Given the description of an element on the screen output the (x, y) to click on. 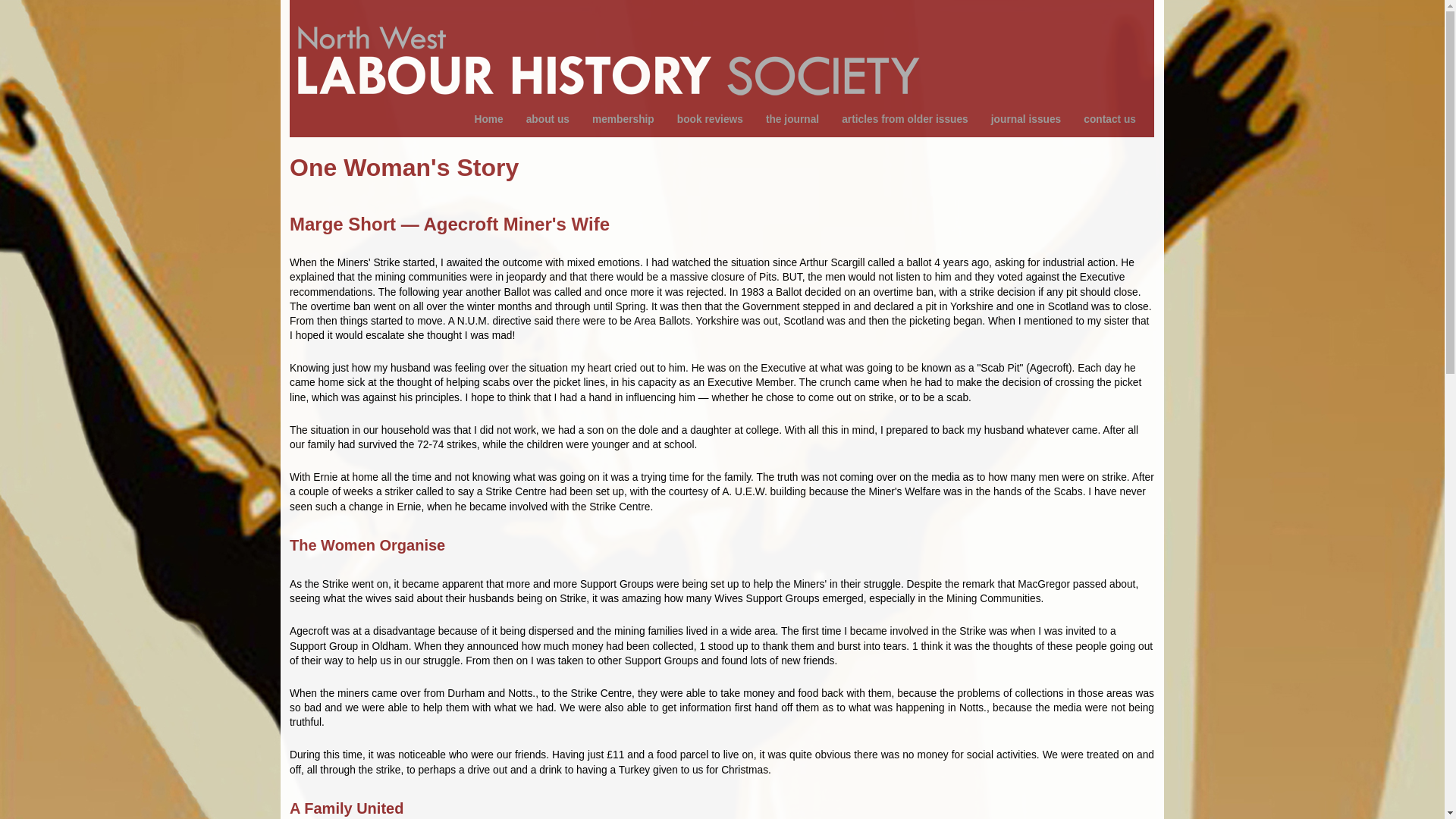
about us (540, 119)
the journal (784, 119)
journal issues (1018, 119)
book reviews (702, 119)
membership (614, 119)
articles from older issues (897, 119)
contact us (1101, 119)
Home (611, 50)
Home (480, 119)
